Given the description of an element on the screen output the (x, y) to click on. 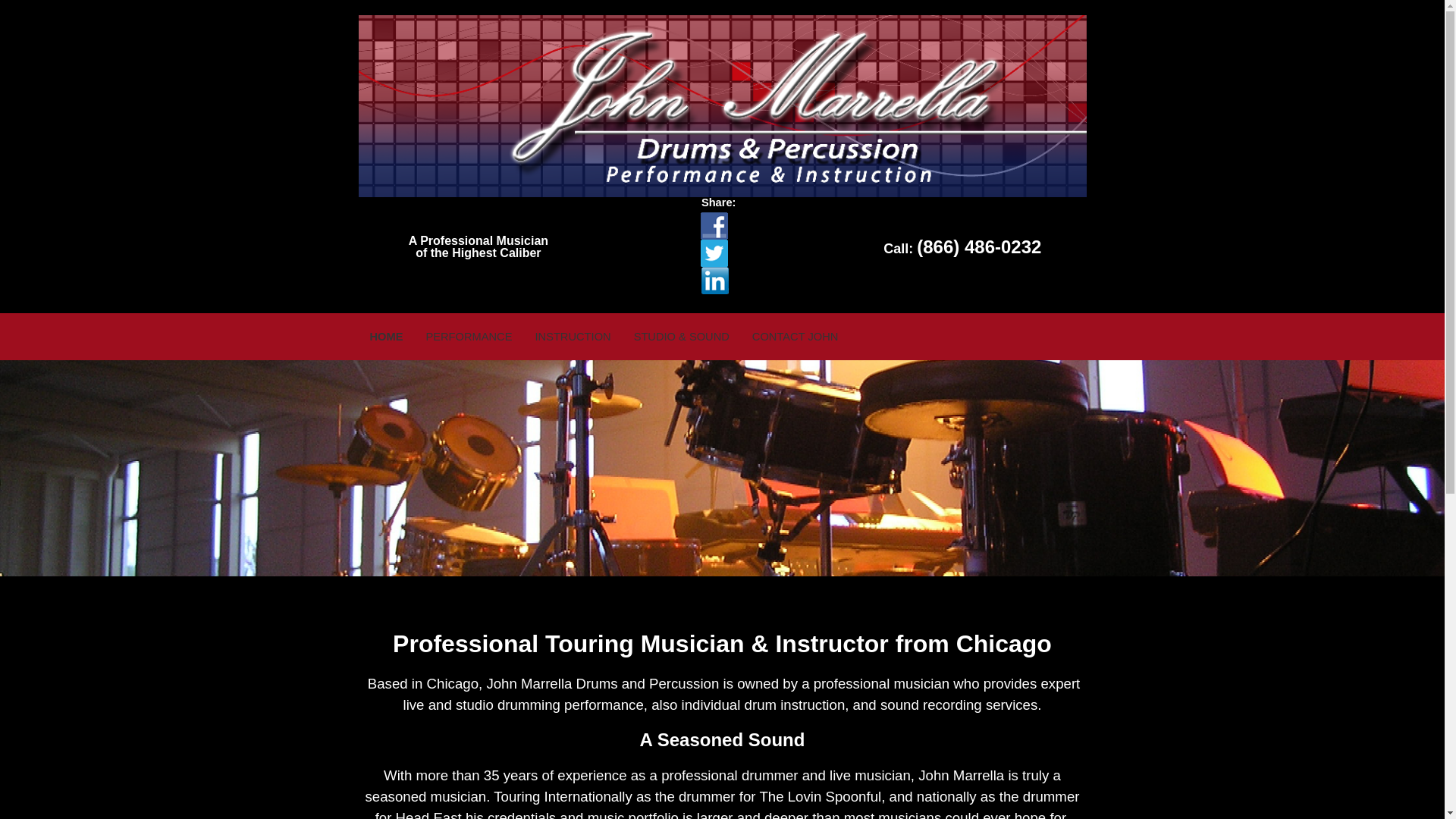
John Marrella Drummer (722, 106)
PERFORMANCE (468, 336)
INSTRUCTION (572, 336)
CONTACT JOHN (794, 336)
HOME (386, 336)
